Given the description of an element on the screen output the (x, y) to click on. 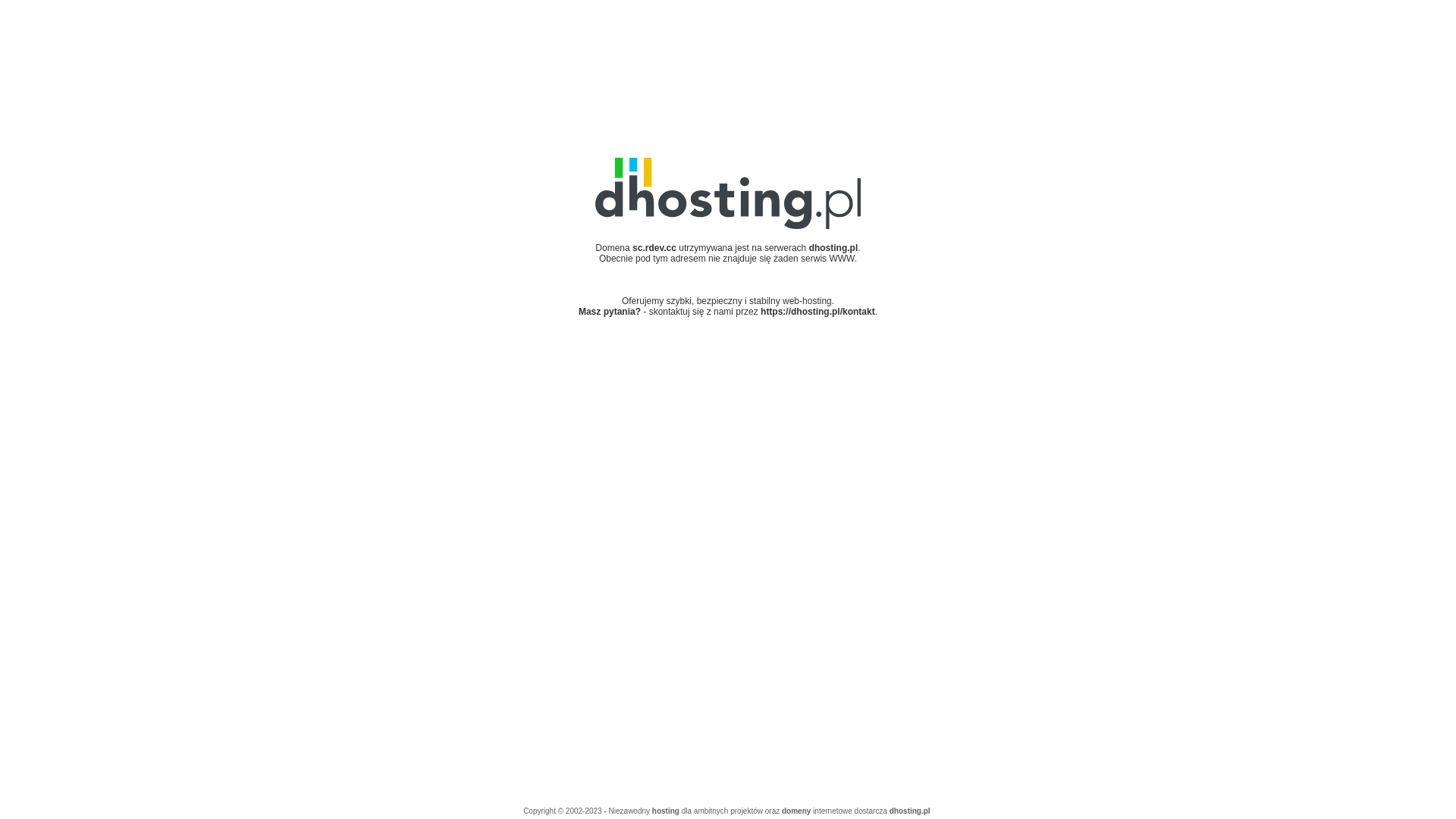
dhosting.pl Element type: text (833, 247)
dhosting.pl Element type: text (909, 810)
domeny Element type: text (795, 810)
https://dhosting.pl/kontakt Element type: text (817, 311)
hosting Element type: text (665, 810)
